Given the description of an element on the screen output the (x, y) to click on. 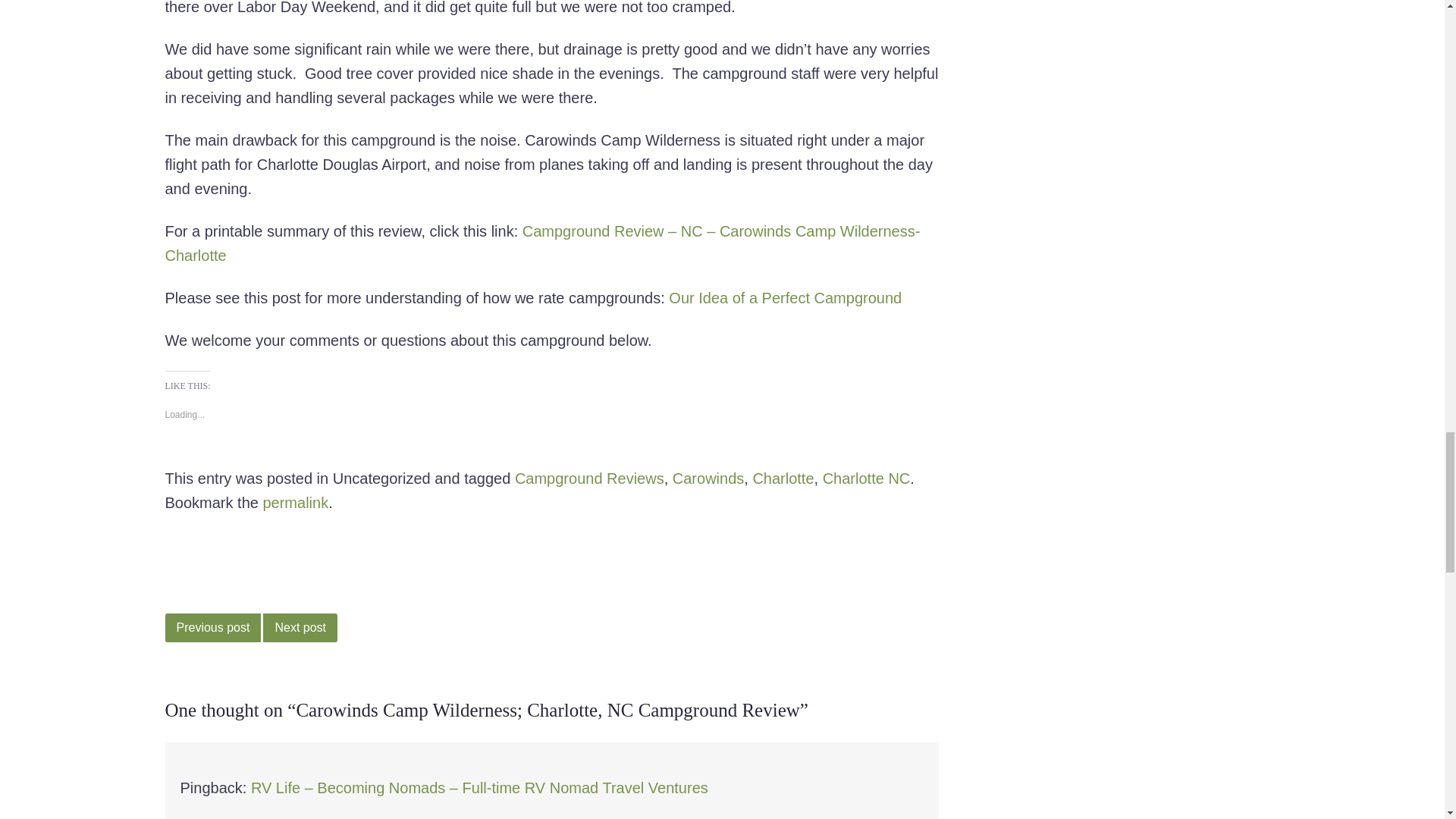
Campground Review - NC - Carowinds Camp Wilderness-Charlotte (542, 242)
Our Idea of a Perfect Campground (784, 297)
Carowinds (708, 478)
permalink (295, 502)
Next post (300, 627)
Campground Reviews (589, 478)
Charlotte NC (866, 478)
Charlotte (782, 478)
Previous post (213, 627)
